Given the description of an element on the screen output the (x, y) to click on. 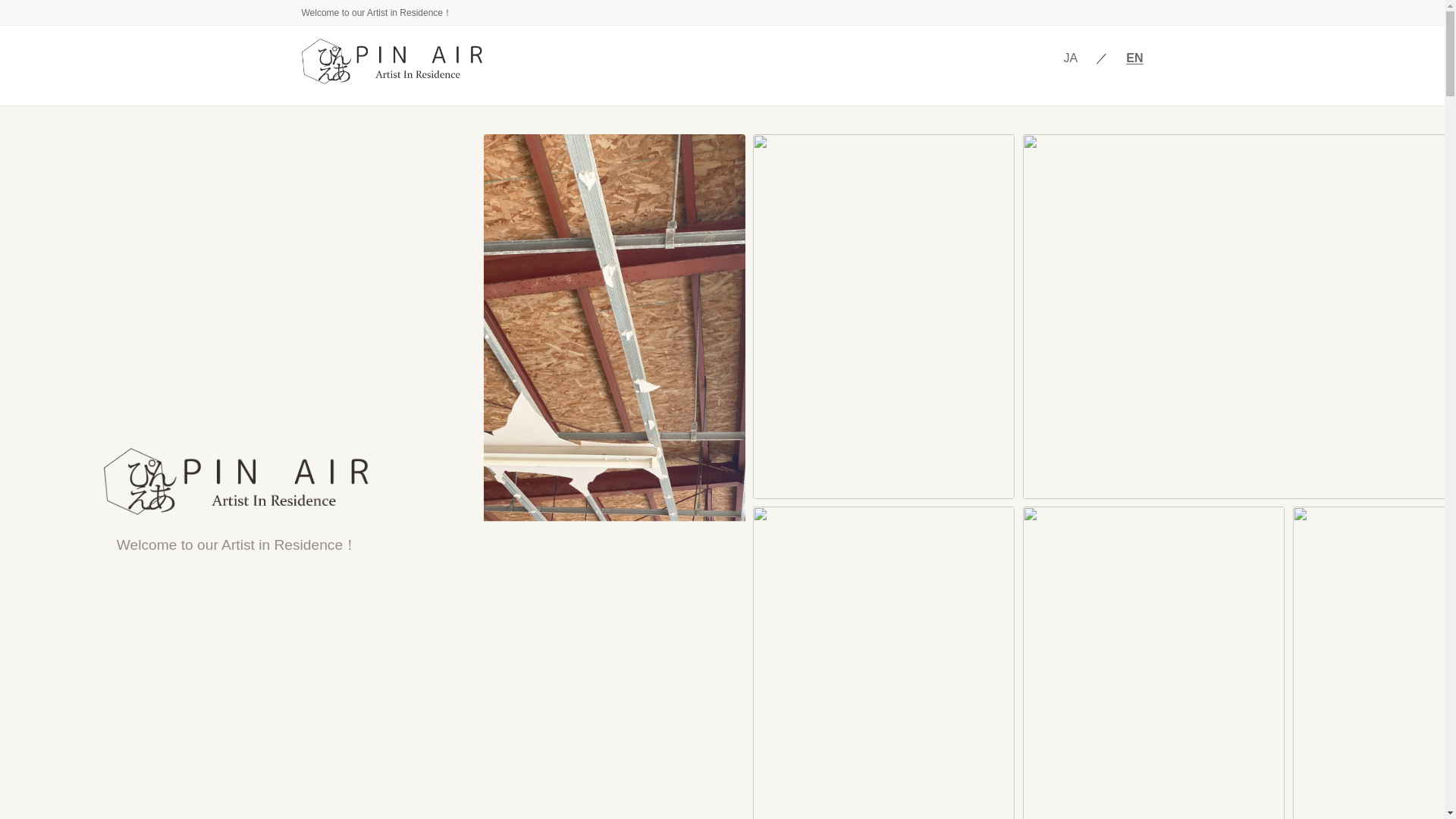
EN (1133, 57)
JA (1071, 57)
